Given the description of an element on the screen output the (x, y) to click on. 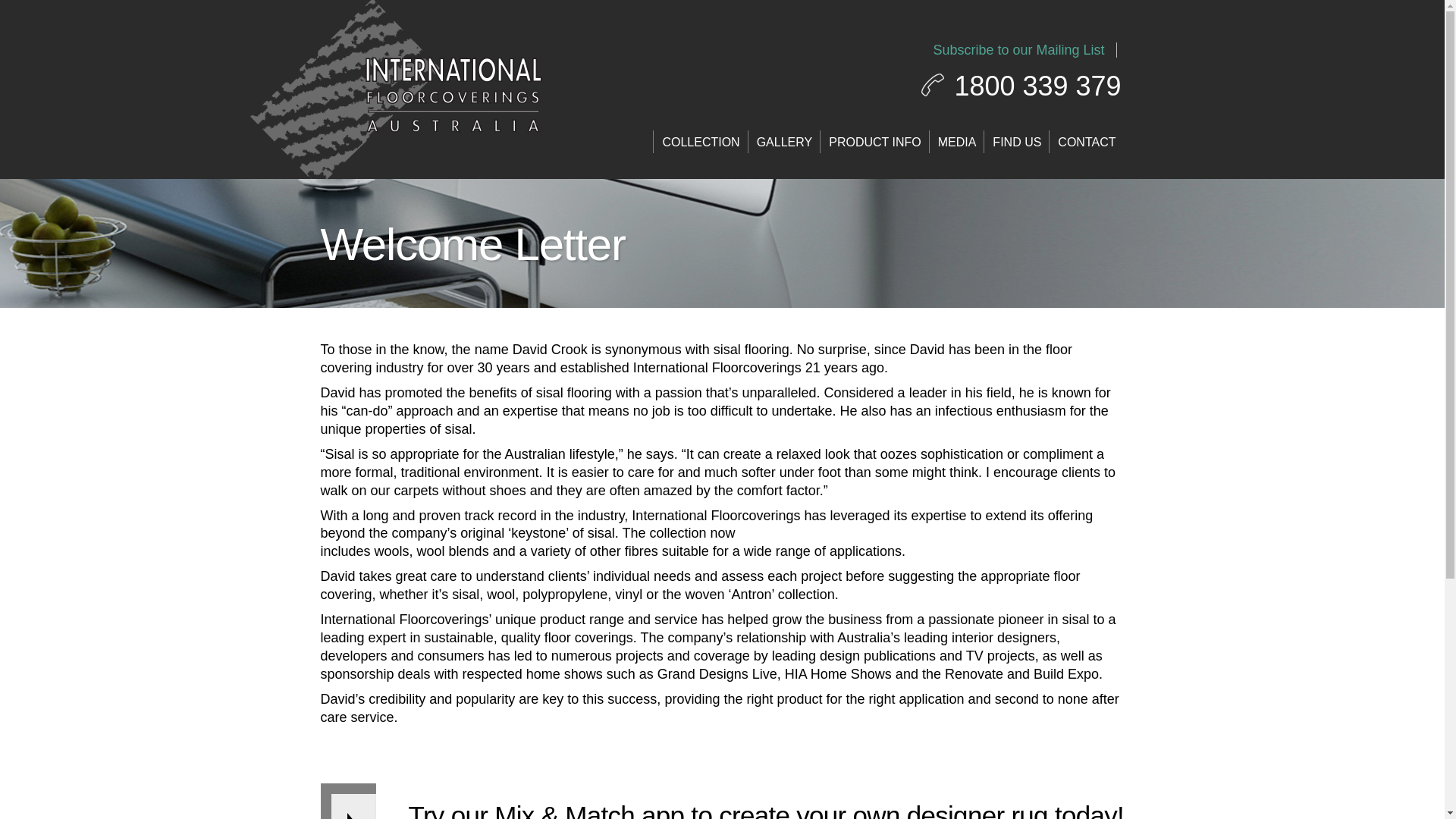
COLLECTION (700, 141)
FIND US (1016, 141)
Subscribe to our Mailing List (1018, 49)
MEDIA (957, 141)
GALLERY (784, 141)
PRODUCT INFO (874, 141)
